Given the description of an element on the screen output the (x, y) to click on. 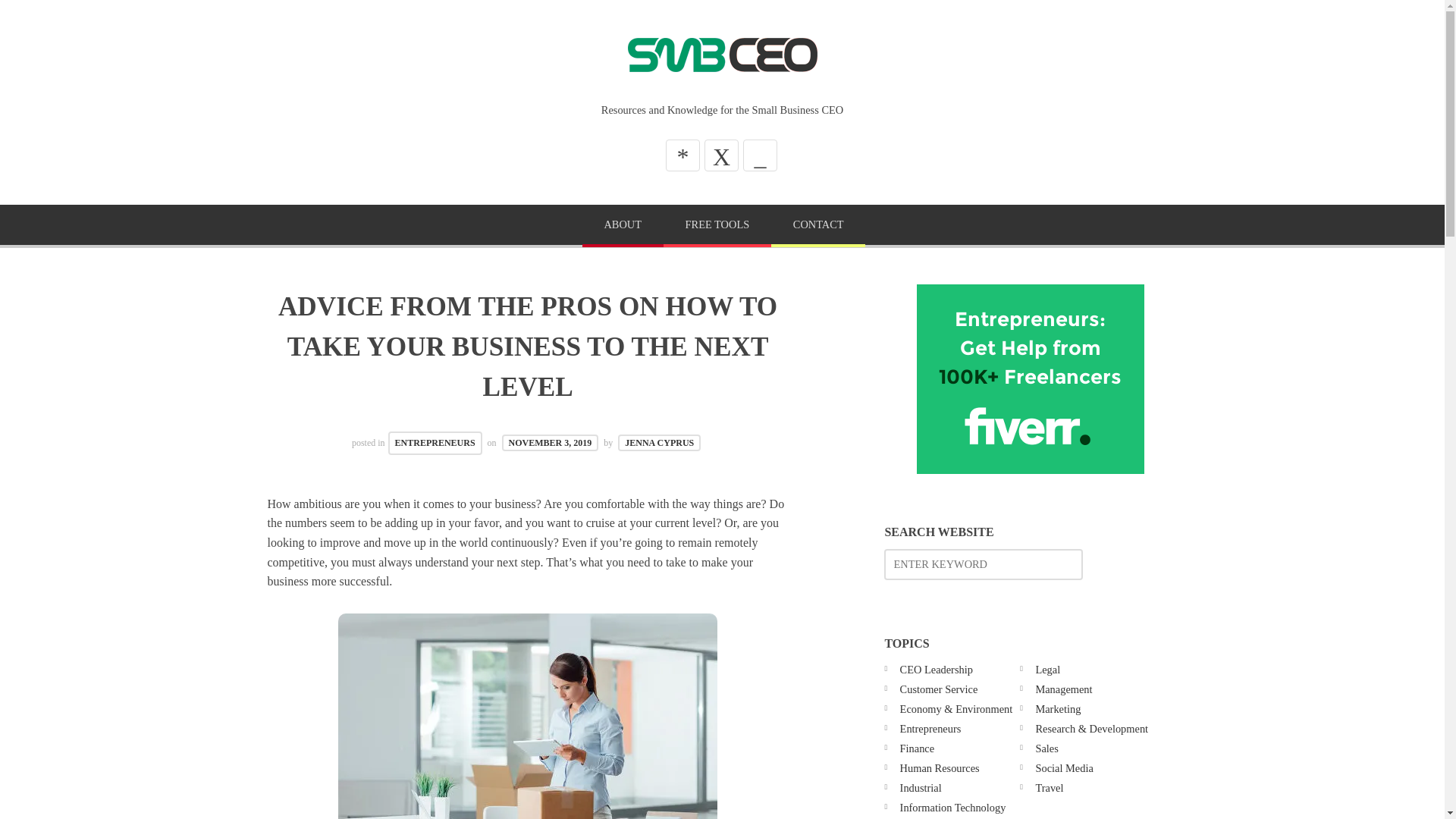
JENNA CYPRUS (658, 442)
X (721, 155)
ABOUT (622, 225)
CONTACT (817, 225)
Entrepreneurs (929, 728)
ENTREPRENEURS (434, 443)
NOVEMBER 3, 2019 (550, 442)
View all posts by Jenna Cyprus (658, 442)
Customer Service (938, 689)
CEO Leadership (935, 669)
